Given the description of an element on the screen output the (x, y) to click on. 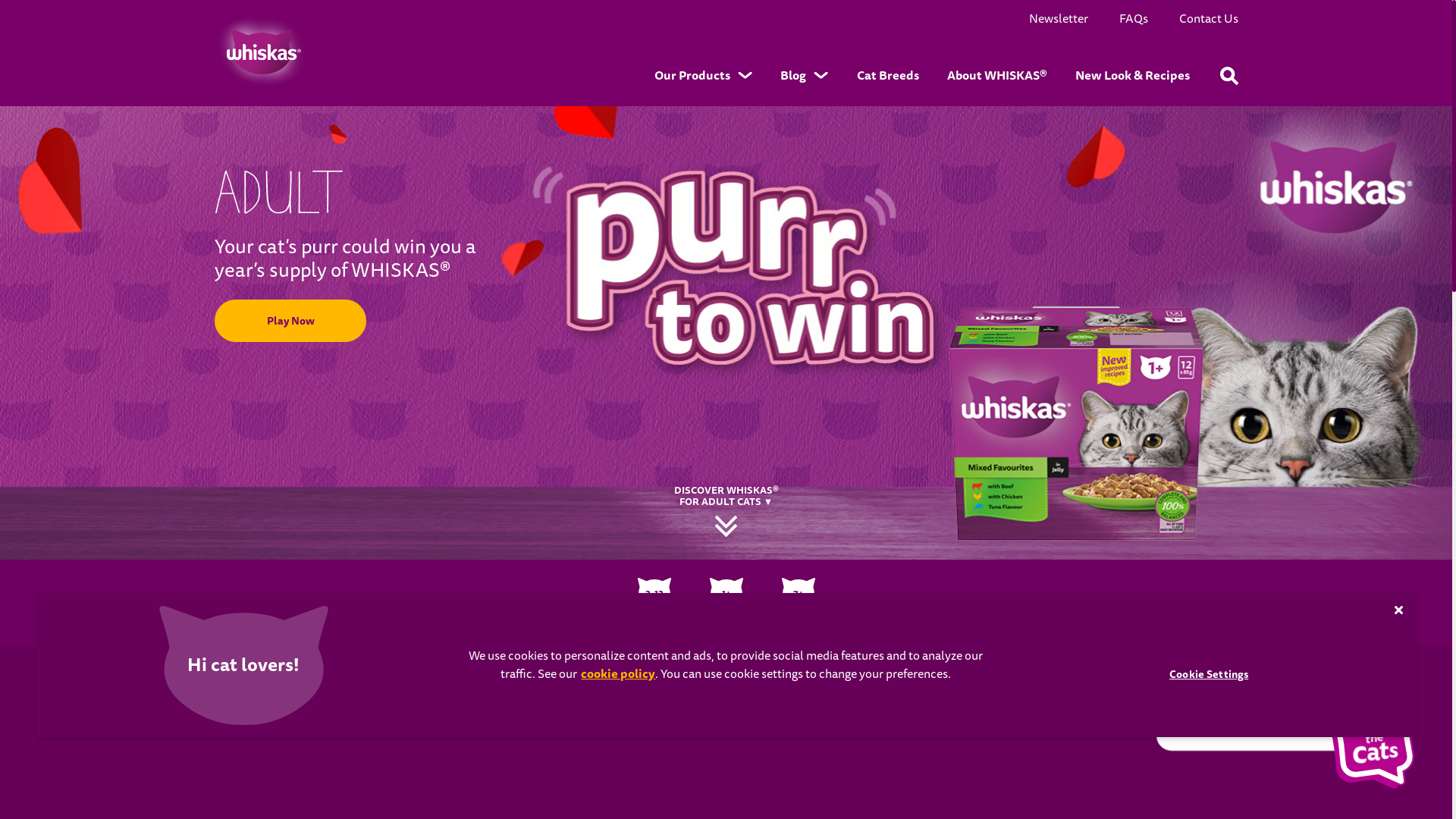
2-12
Kitten Element type: text (653, 602)
Newsletter Element type: text (1057, 19)
Play Now Element type: text (289, 320)
Cookie Settings Element type: text (1208, 674)
7+
Senior Element type: text (797, 602)
Contact Us Element type: text (1207, 19)
Our Products Element type: text (703, 75)
New Look & Recipes Element type: text (1131, 75)
cookie policy
(opens in a new tab) Element type: text (617, 673)
1+
Adult Element type: text (726, 602)
WHISKAS AU Element type: hover (259, 52)
Cat Breeds Element type: text (886, 75)
Blog Element type: text (803, 75)
FAQs Element type: text (1133, 19)
